Given the description of an element on the screen output the (x, y) to click on. 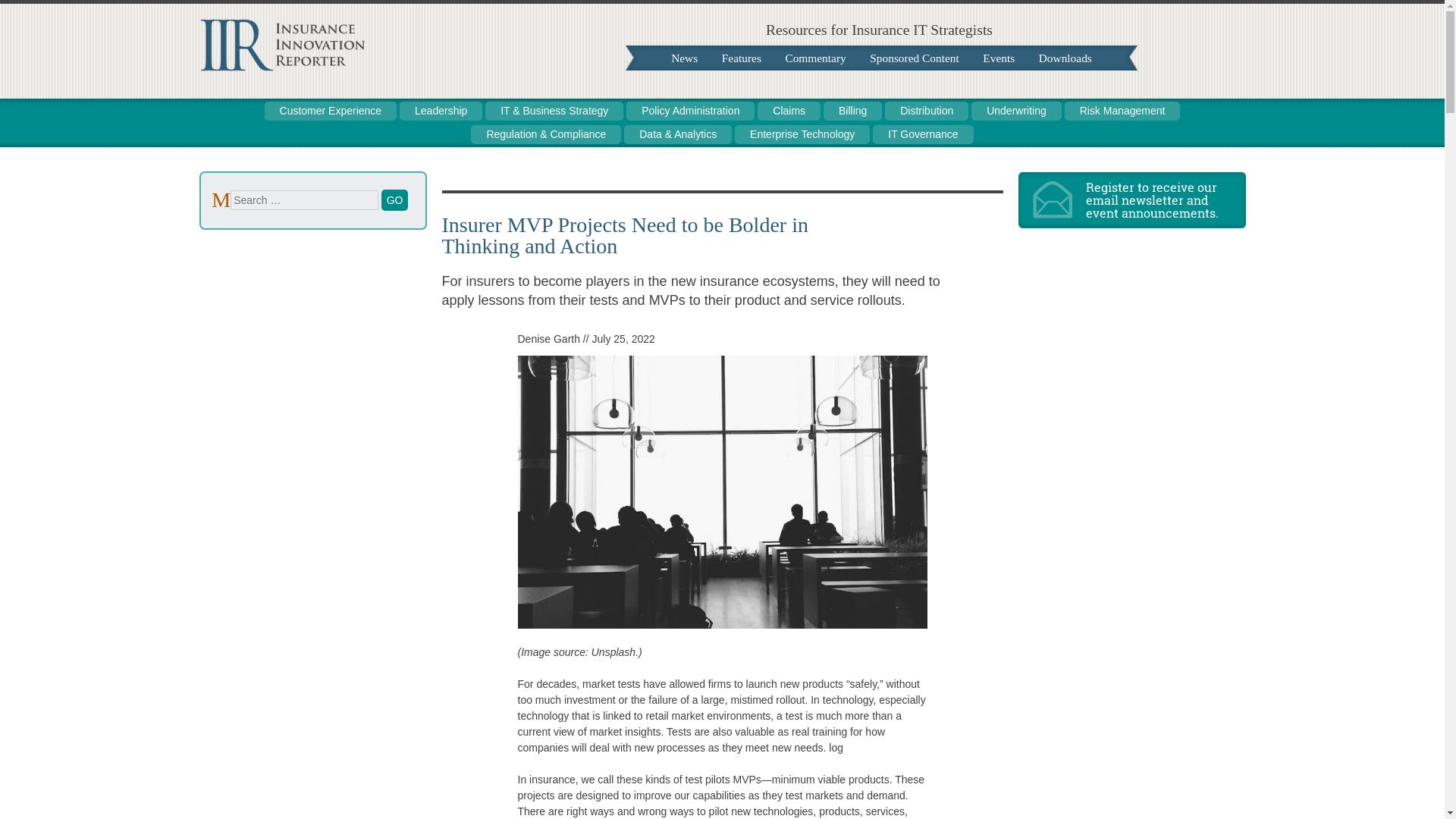
Billing (853, 110)
Skip to content (226, 109)
Leadership (439, 110)
Skip to content (679, 57)
Events (998, 57)
Downloads (1064, 57)
Enterprise Technology (802, 134)
Features (741, 57)
Skip to content (679, 57)
Underwriting (1016, 110)
Customer Experience (330, 110)
Go (395, 199)
News (684, 57)
Commentary (815, 57)
Insurance Innovation Reporter (281, 67)
